Given the description of an element on the screen output the (x, y) to click on. 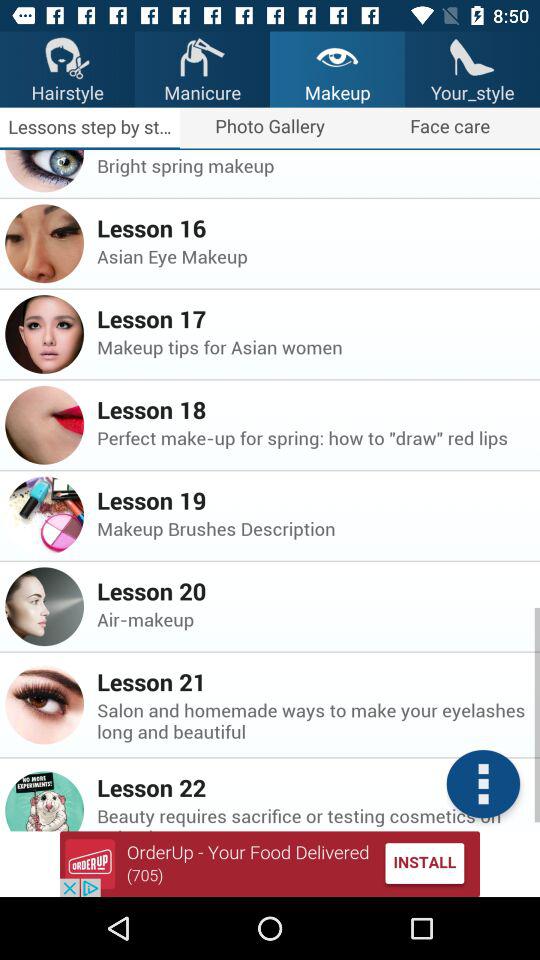
advertisement page (270, 864)
